Given the description of an element on the screen output the (x, y) to click on. 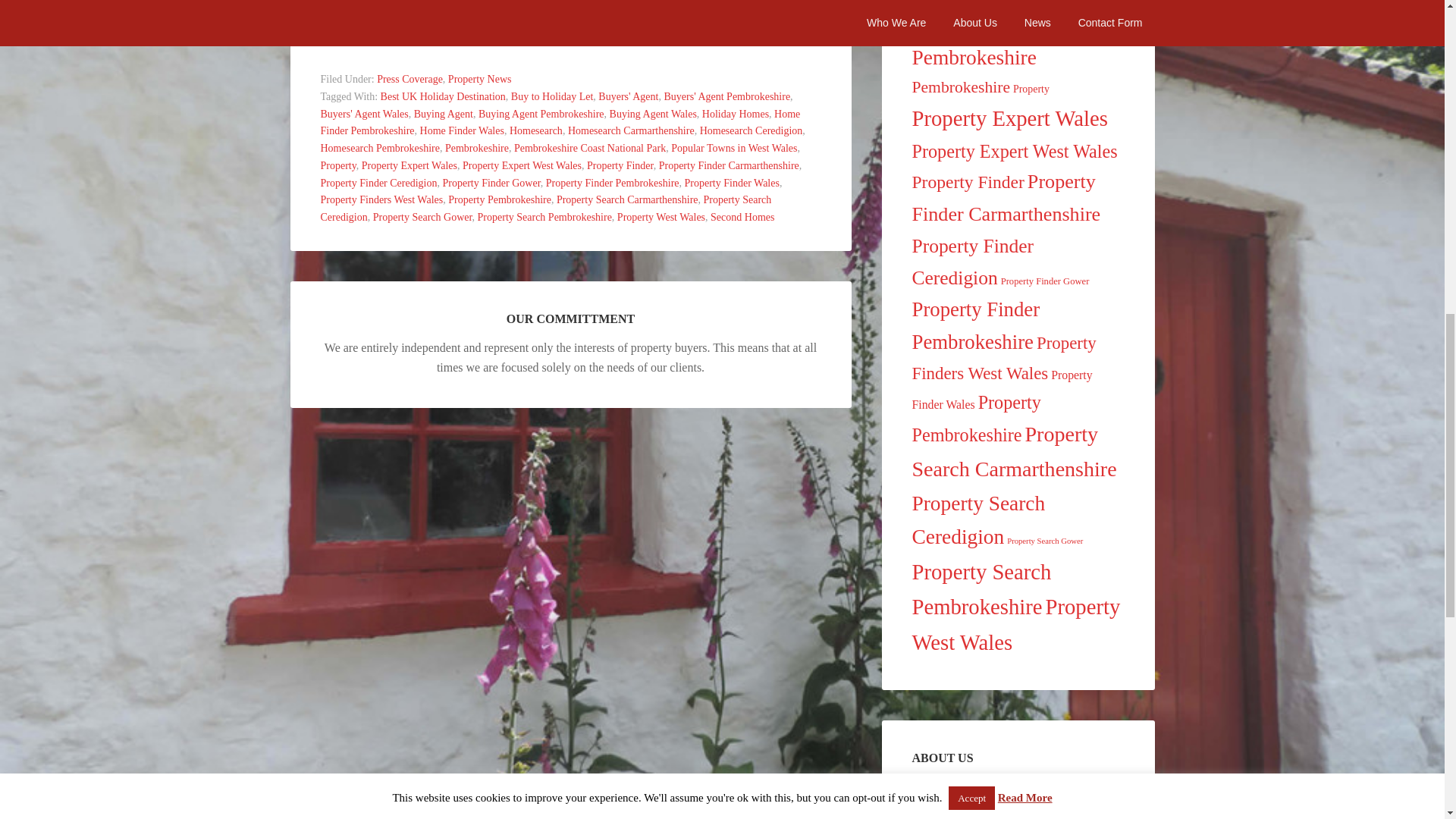
Click to share on Twitter (480, 23)
Buying Agent Pembrokeshire (541, 113)
Click to share on LinkedIn (419, 23)
Buyers' Agent Pembrokeshire (726, 96)
Twitter (480, 23)
Homesearch (535, 130)
Best UK Holiday Destination (442, 96)
Holiday Homes (734, 113)
Buyers' Agent (628, 96)
Property News (480, 79)
Home Finder Wales (461, 130)
Buy to Holiday Let (552, 96)
Pinterest (541, 23)
LinkedIn (419, 23)
Buying Agent (443, 113)
